Given the description of an element on the screen output the (x, y) to click on. 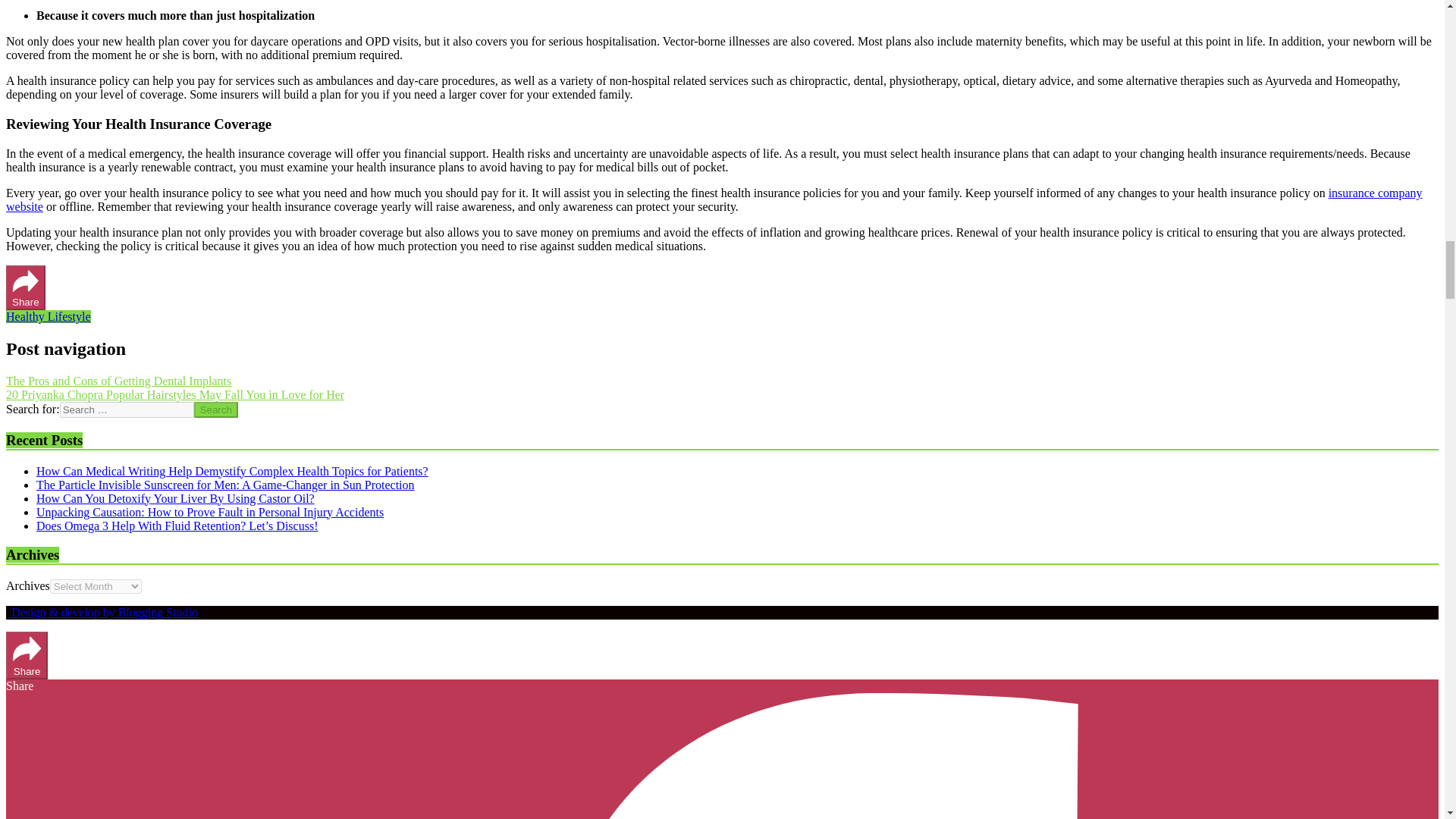
Search (215, 409)
Search (215, 409)
